Given the description of an element on the screen output the (x, y) to click on. 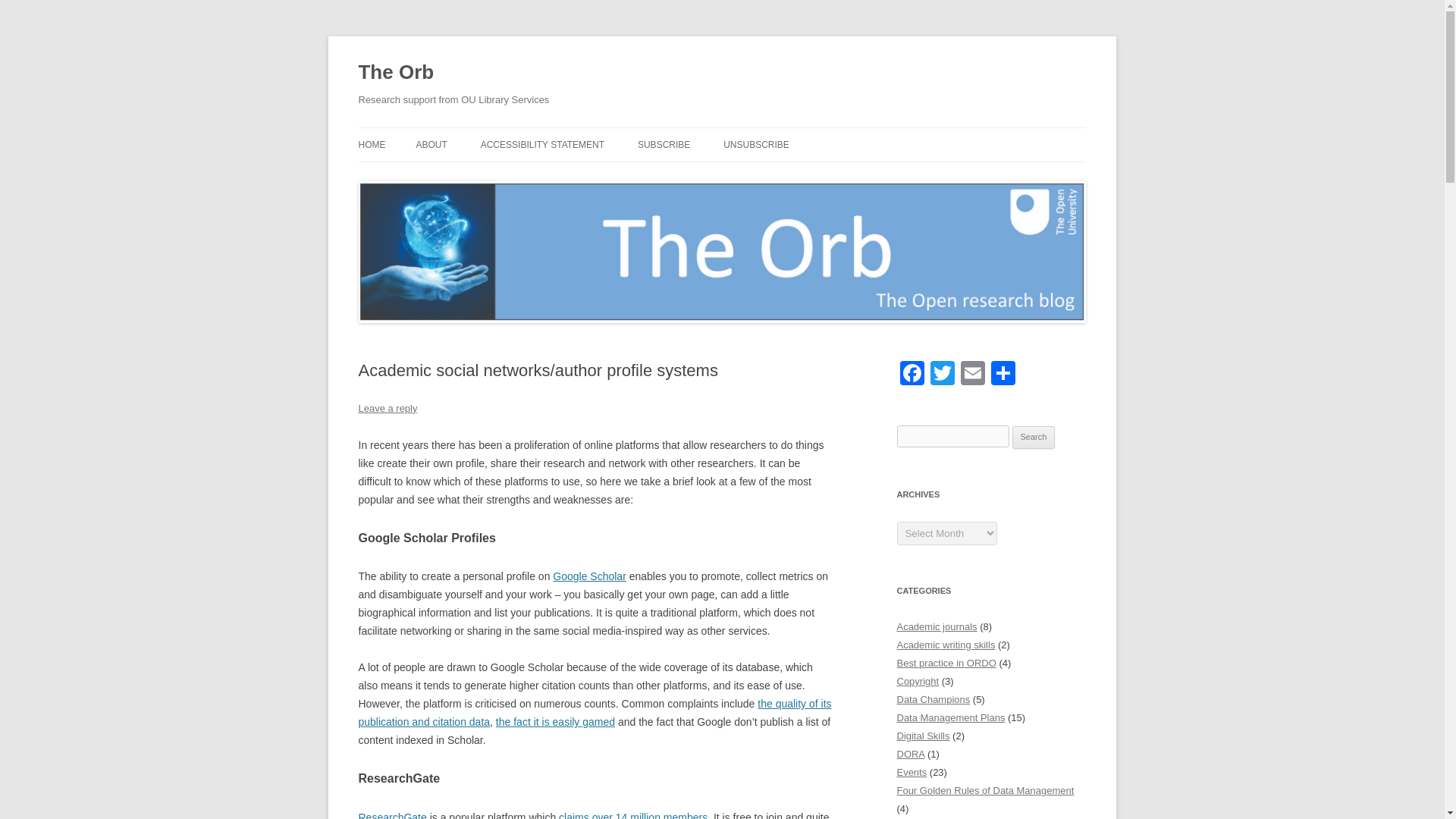
ACCESSIBILITY STATEMENT (542, 144)
SUBSCRIBE (663, 144)
the fact it is easily gamed (555, 721)
The Orb (395, 72)
claims over 14 million members. (634, 815)
Facebook (911, 375)
UNSUBSCRIBE (756, 144)
Search (1033, 436)
the quality of its publication and citation data (594, 712)
